Given the description of an element on the screen output the (x, y) to click on. 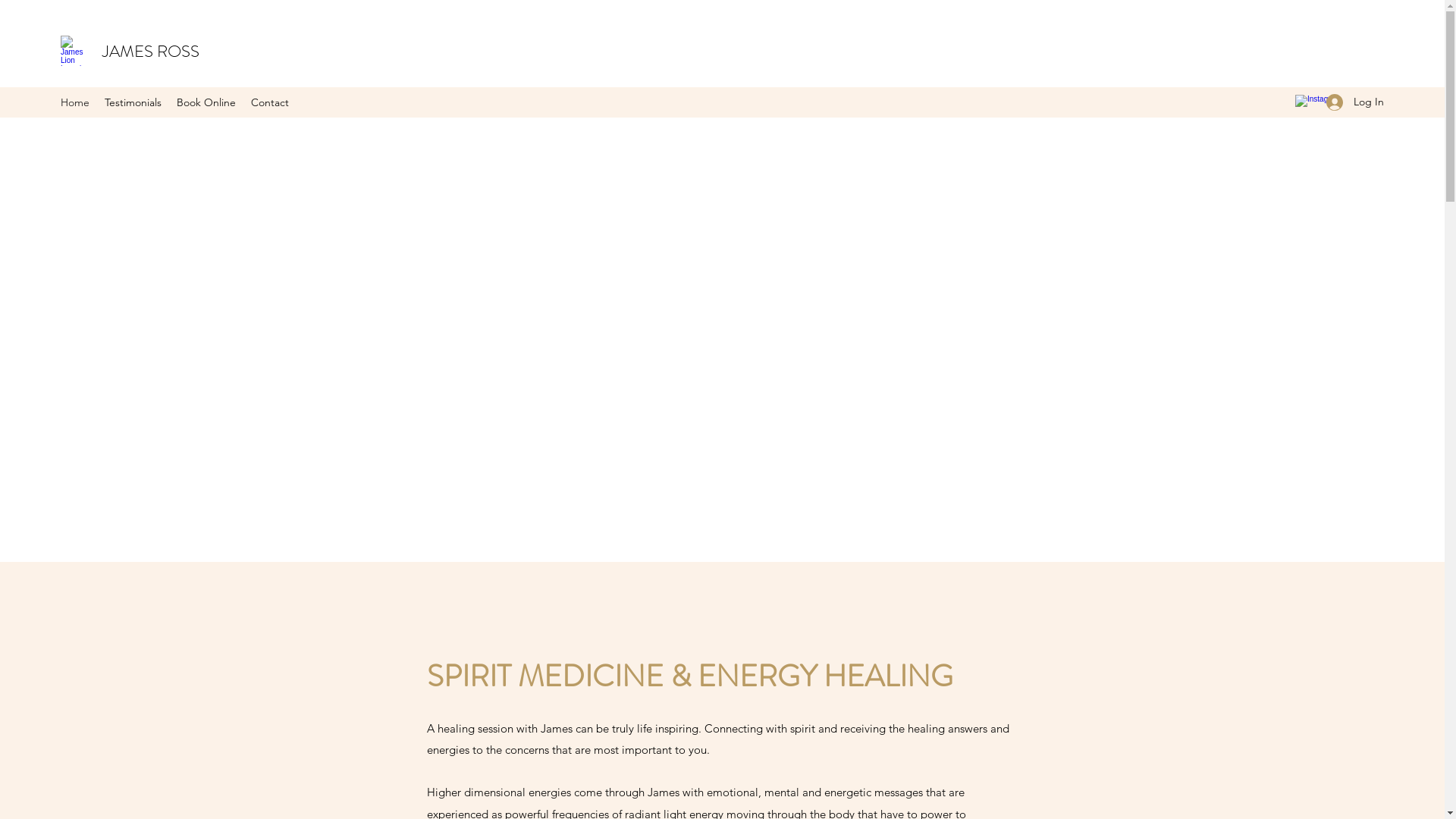
JAMES ROSS Element type: text (150, 50)
Testimonials Element type: text (133, 102)
Log In Element type: text (1349, 101)
Contact Element type: text (269, 102)
Book Online Element type: text (206, 102)
Home Element type: text (75, 102)
